Given the description of an element on the screen output the (x, y) to click on. 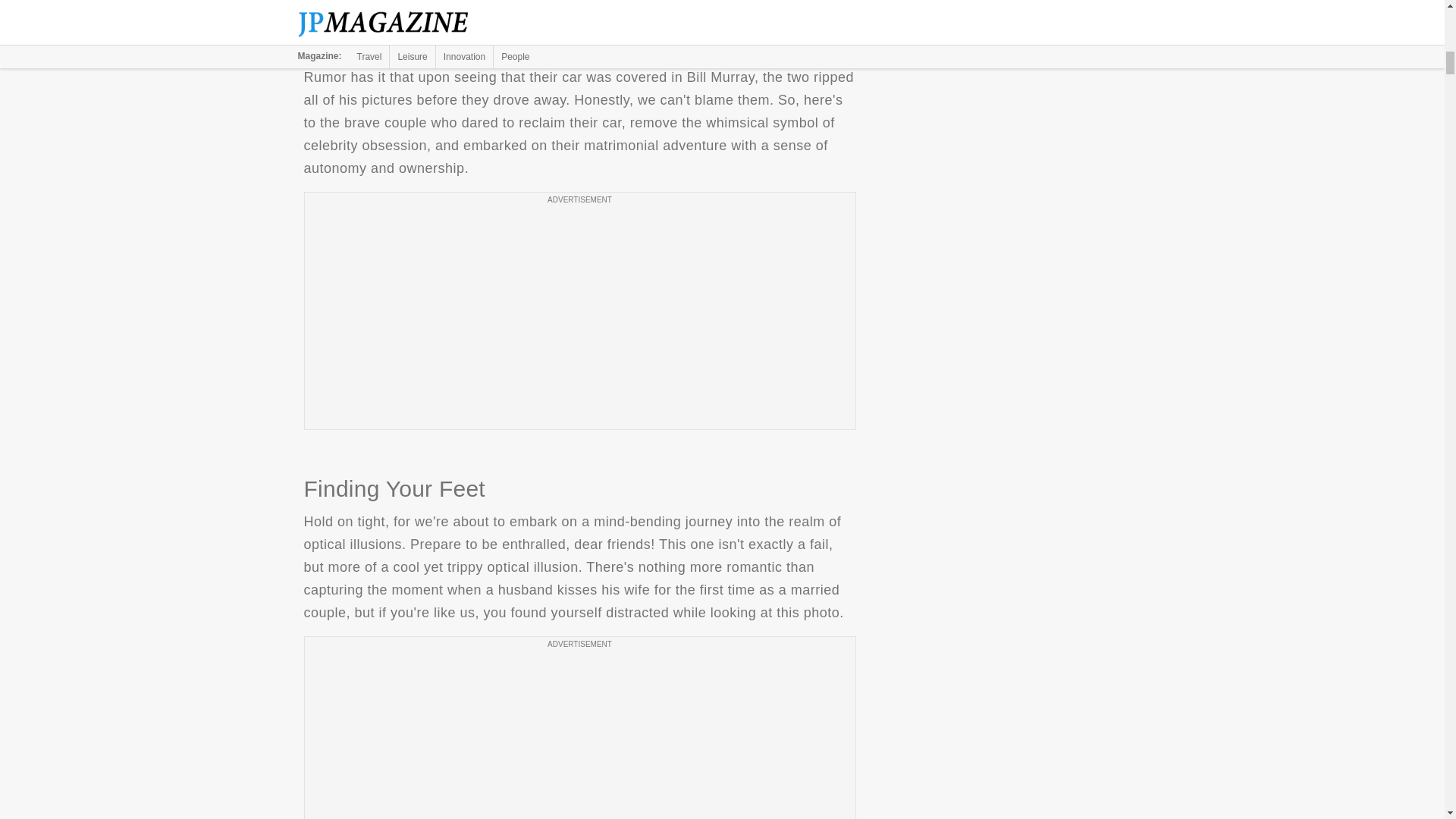
Too Many Murrays (579, 19)
